Given the description of an element on the screen output the (x, y) to click on. 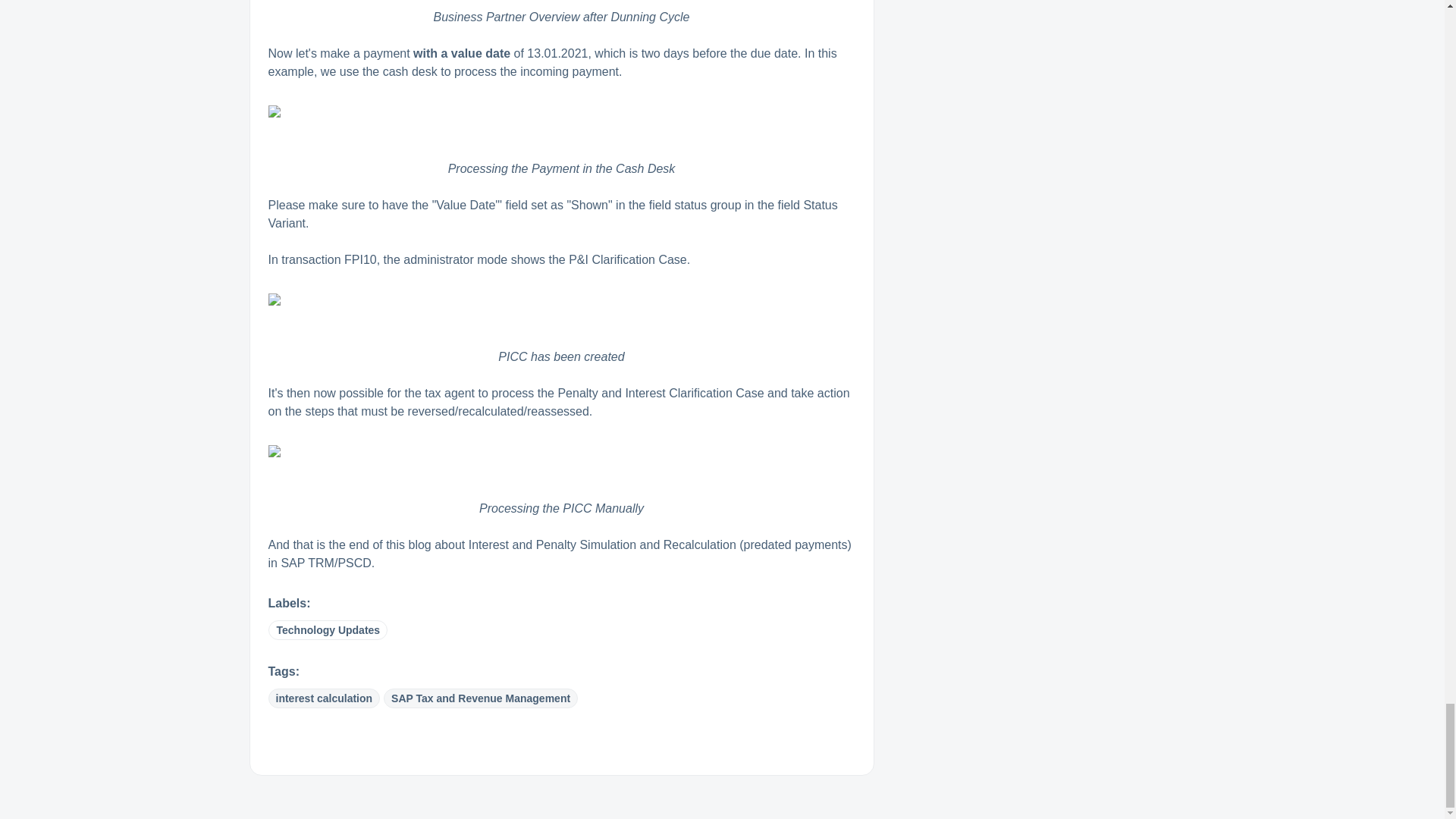
Technology Updates (327, 629)
interest calculation (323, 698)
SAP Tax and Revenue Management (481, 698)
